Given the description of an element on the screen output the (x, y) to click on. 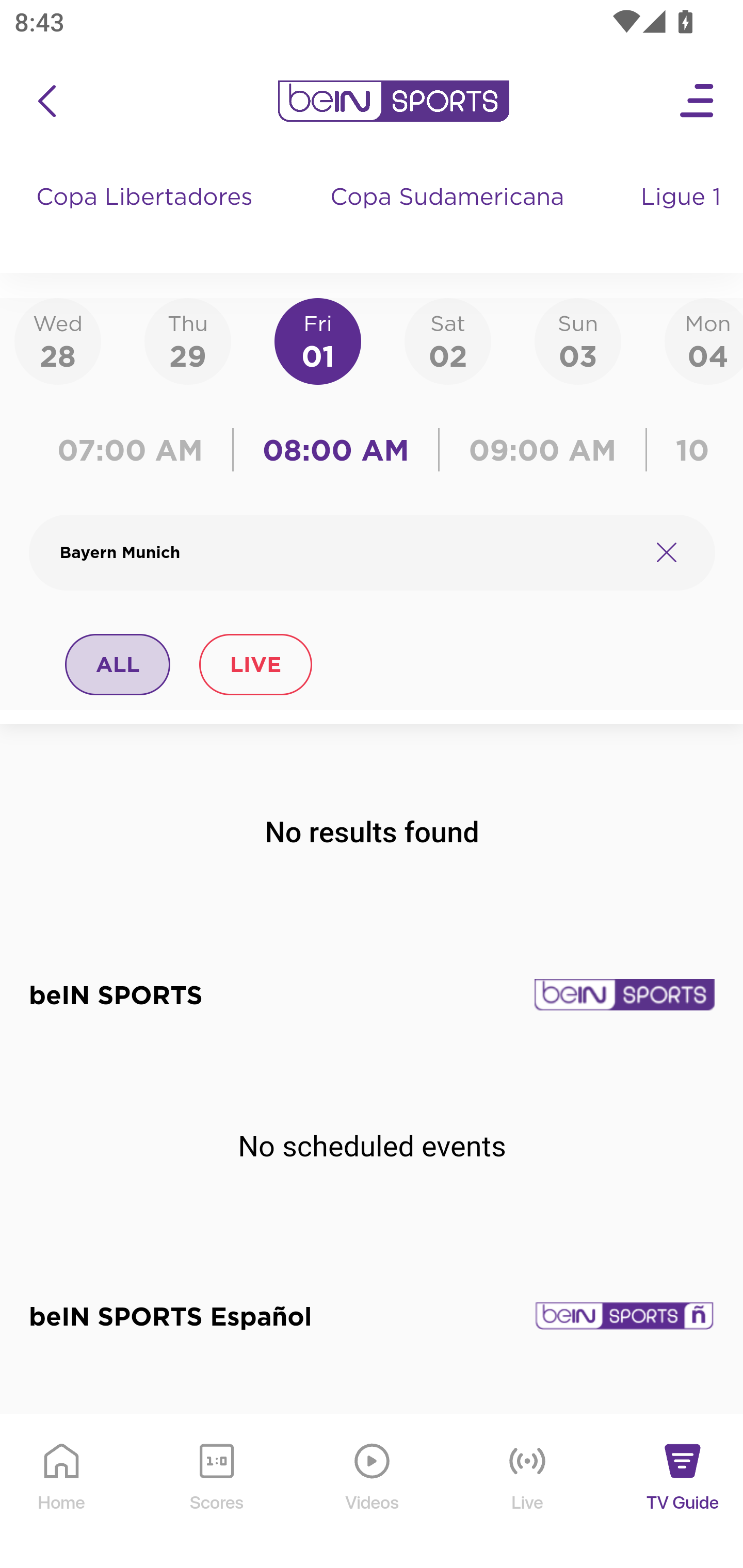
en-us?platform=mobile_android bein logo (392, 101)
icon back (46, 101)
Open Menu Icon (697, 101)
Copa Libertadores (146, 216)
Copa Sudamericana (448, 216)
Ligue 1 (682, 216)
Wed28 (58, 340)
Thu29 (187, 340)
Fri01 (318, 340)
Sat02 (447, 340)
Sun03 (578, 340)
Mon04 (703, 340)
07:00 AM (135, 449)
08:00 AM (336, 449)
09:00 AM (542, 449)
Bayern Munich (346, 552)
ALL (118, 663)
LIVE (255, 663)
Home Home Icon Home (61, 1491)
Scores Scores Icon Scores (216, 1491)
Videos Videos Icon Videos (372, 1491)
TV Guide TV Guide Icon TV Guide (682, 1491)
